Given the description of an element on the screen output the (x, y) to click on. 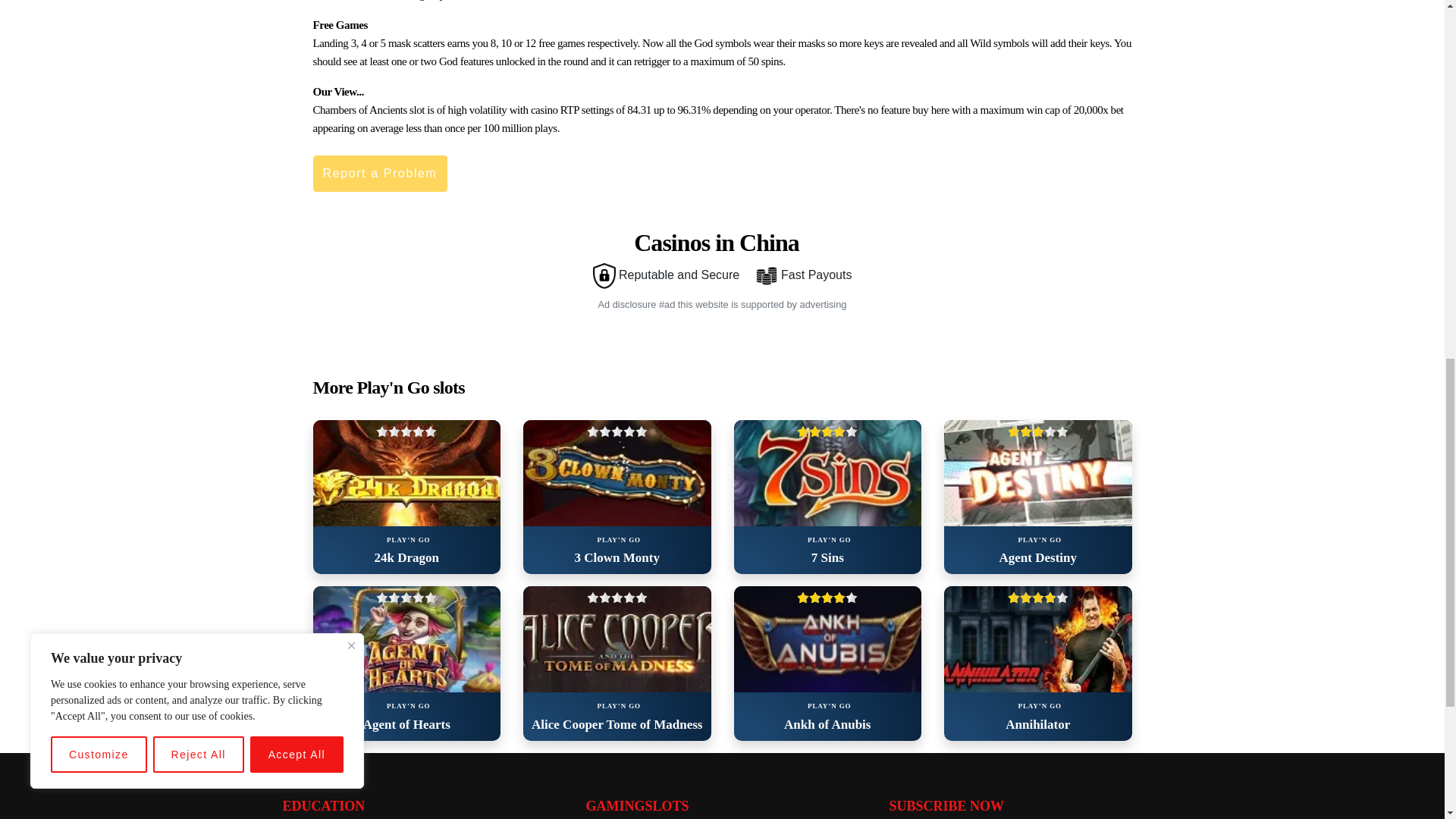
3 Clown Monty slot (616, 473)
Report a Problem (379, 173)
7 Sins slot (827, 473)
Agent Destiny slot (1037, 473)
24k Dragon slot (406, 473)
